Given the description of an element on the screen output the (x, y) to click on. 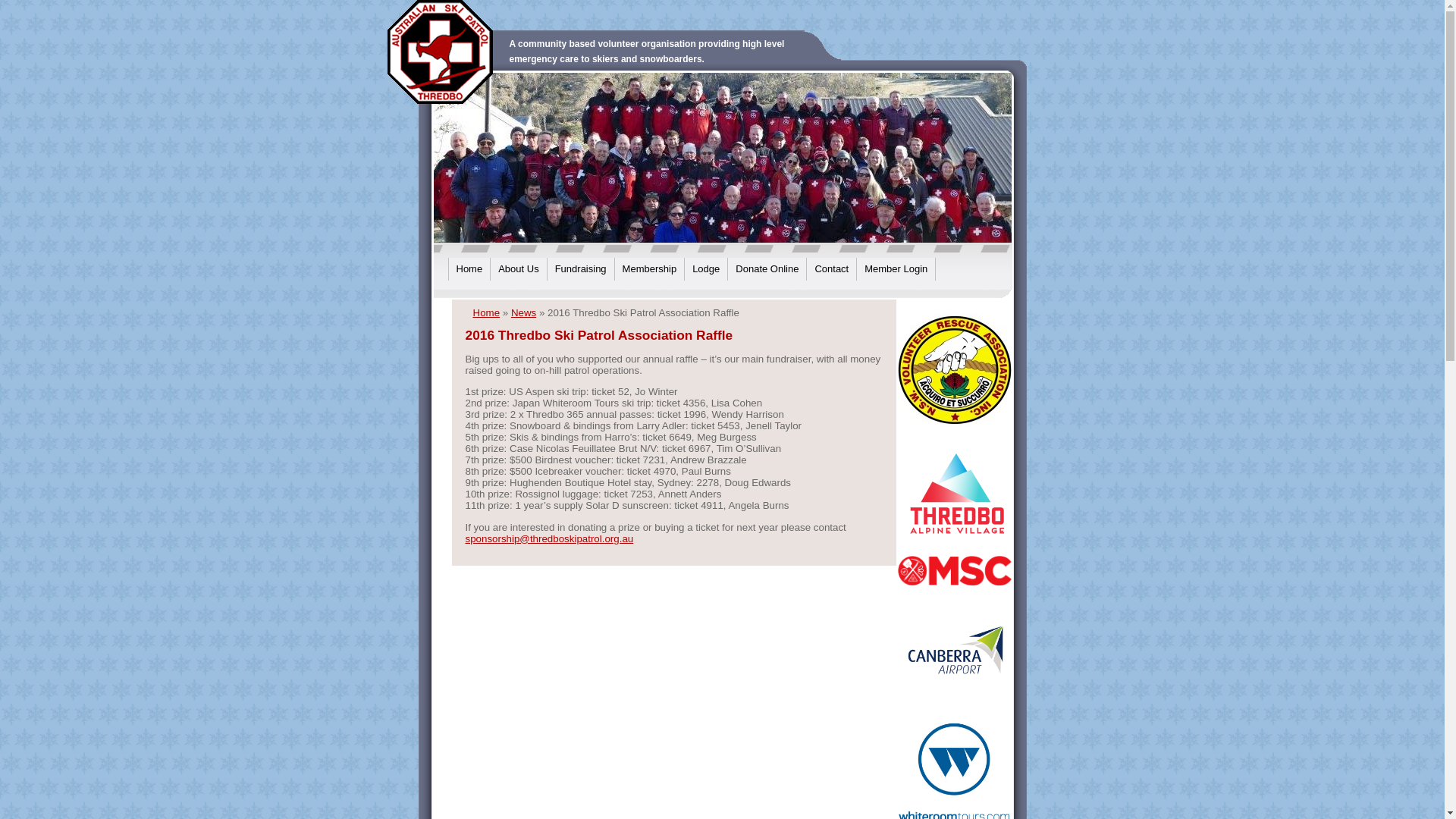
Contact Element type: text (831, 268)
Donate Online Element type: text (766, 268)
Fundraising Element type: text (580, 268)
Home Element type: text (468, 268)
About Us Element type: text (517, 268)
News Element type: text (523, 312)
Home Element type: text (486, 312)
sponsorship@thredboskipatrol.org.au Element type: text (549, 538)
Membership Element type: text (649, 268)
Member Login Element type: text (895, 268)
Lodge Element type: text (706, 268)
